Given the description of an element on the screen output the (x, y) to click on. 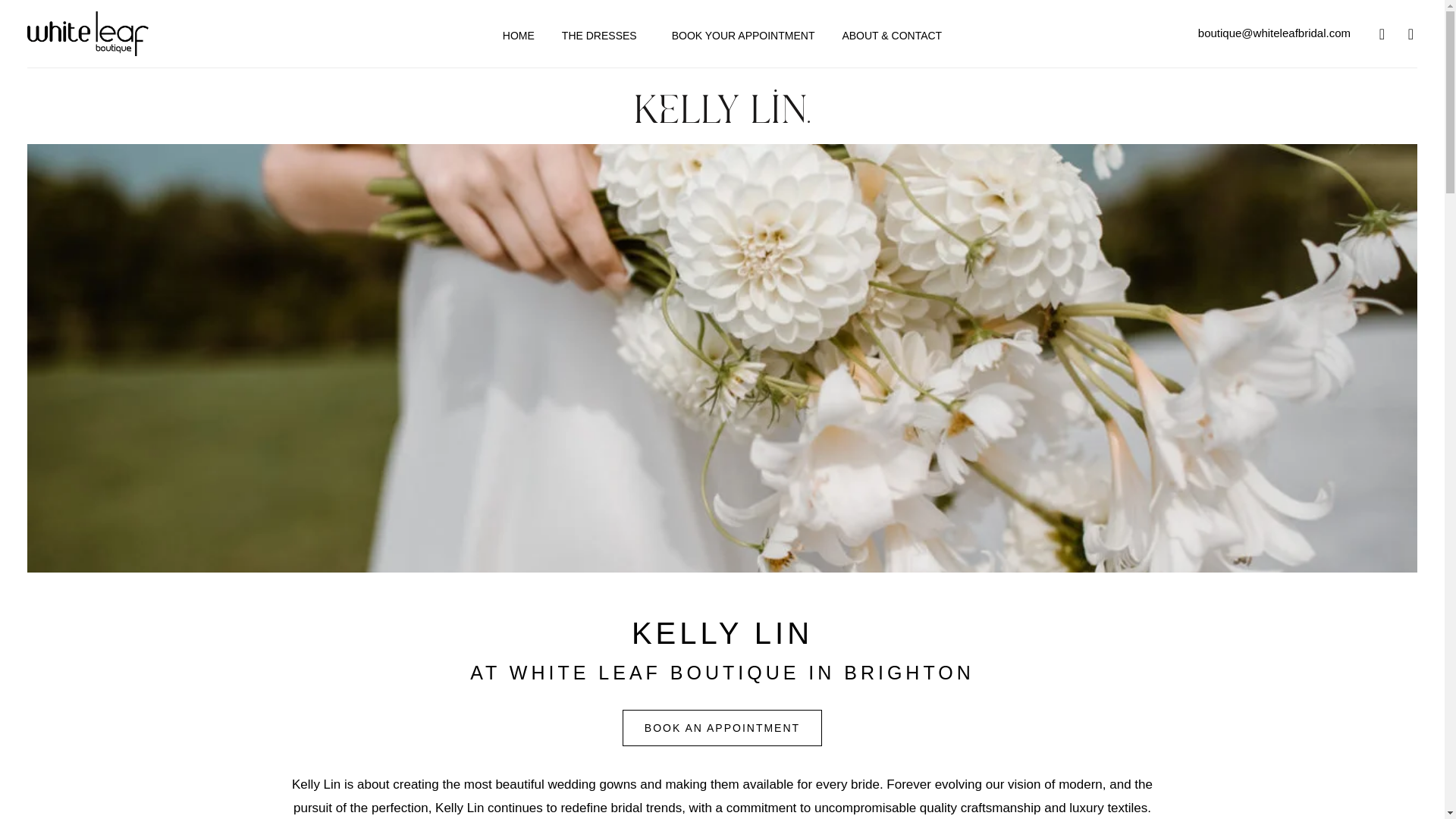
THE DRESSES (603, 35)
BOOK AN APPOINTMENT (722, 728)
HOME (518, 35)
BOOK YOUR APPOINTMENT (743, 35)
